Given the description of an element on the screen output the (x, y) to click on. 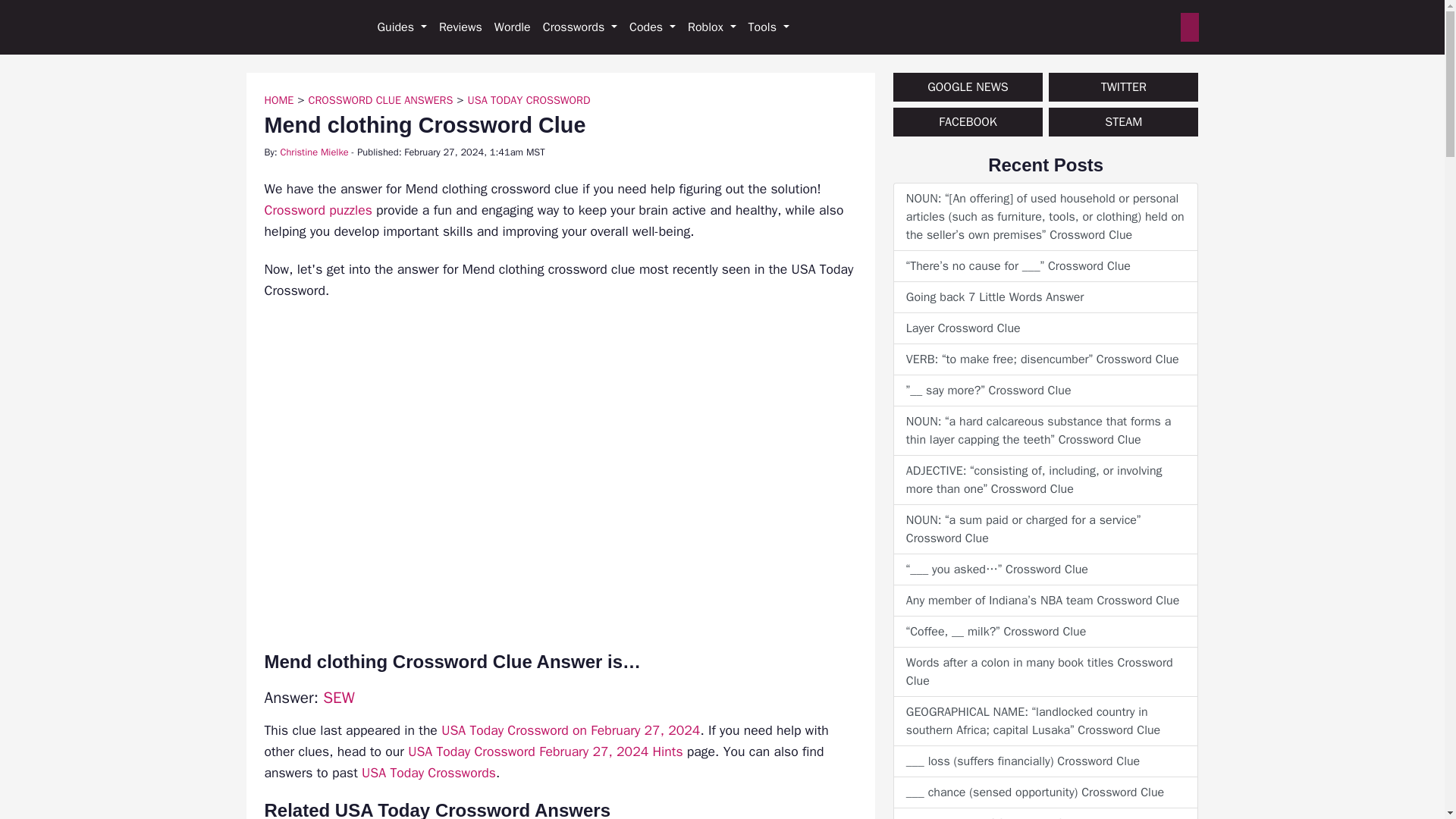
Try Hard Guides (298, 27)
Wordle (512, 27)
Guides (401, 27)
Crosswords (580, 27)
Reviews (459, 27)
Codes (652, 27)
Roblox (711, 27)
